Given the description of an element on the screen output the (x, y) to click on. 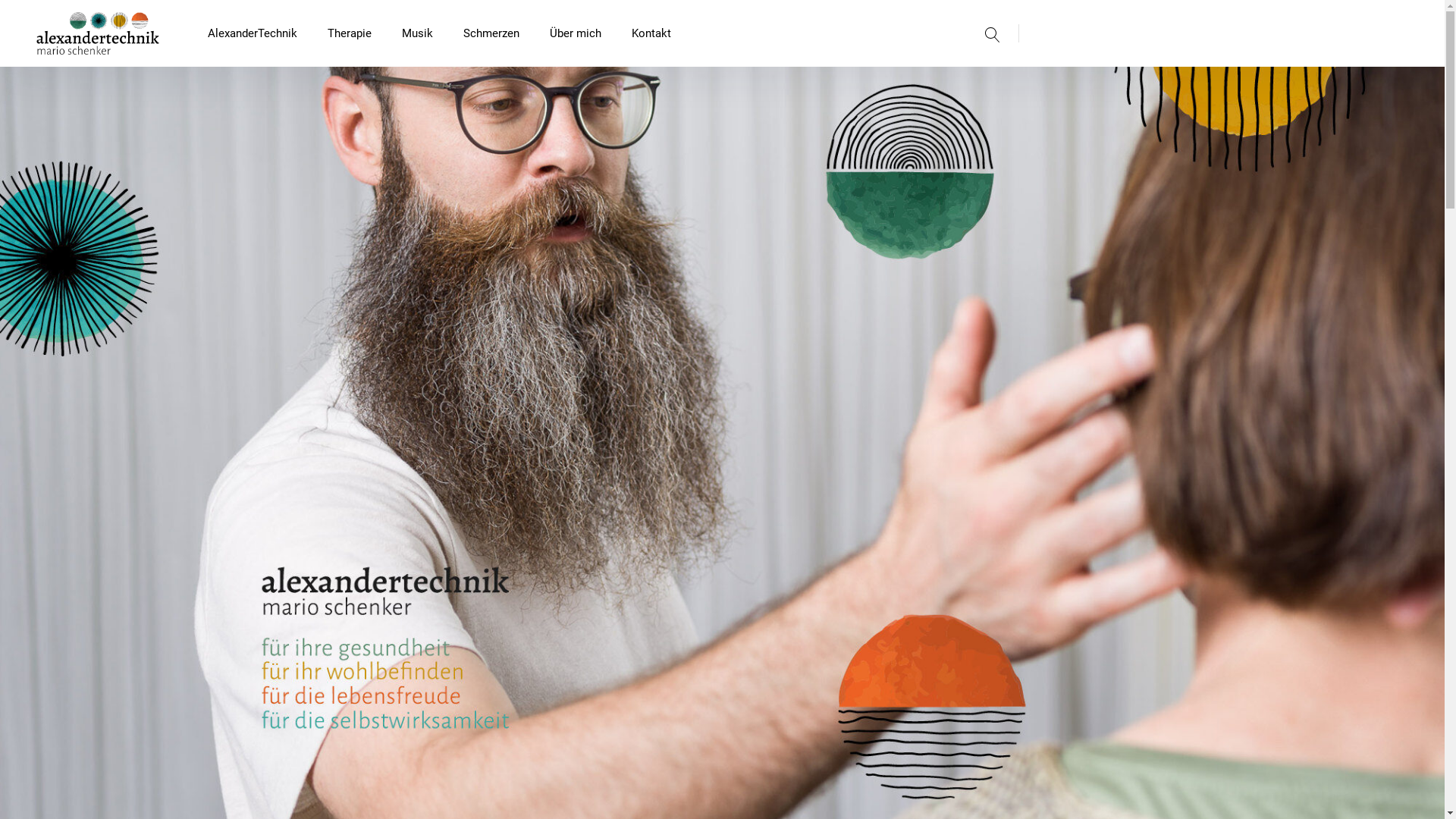
Therapie Element type: text (349, 33)
Schmerzen Element type: text (491, 33)
Kontakt Element type: text (651, 33)
AlexanderTechnik Element type: text (252, 33)
Musik Element type: text (417, 33)
Mario Schenker | AlexanderTechnik | Baden Element type: text (233, 33)
